Given the description of an element on the screen output the (x, y) to click on. 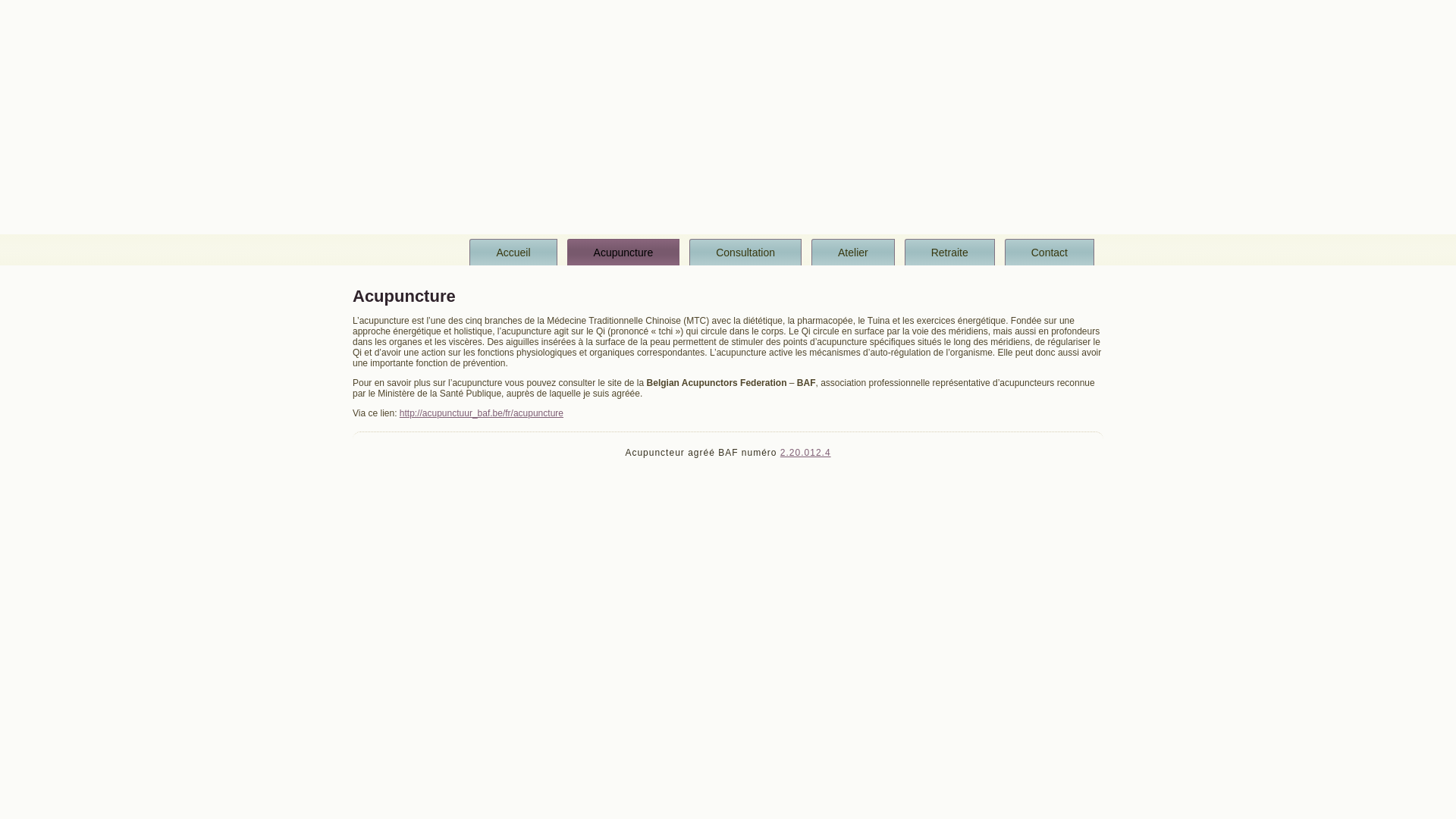
Atelier Element type: text (852, 251)
http://acupunctuur_baf.be/fr/acupuncture Element type: text (481, 412)
Contact Element type: text (1049, 251)
2.20.012.4 Element type: text (805, 452)
Consultation Element type: text (745, 251)
Accueil Element type: text (512, 251)
Acupuncture Element type: text (623, 251)
Retraite Element type: text (949, 251)
